Given the description of an element on the screen output the (x, y) to click on. 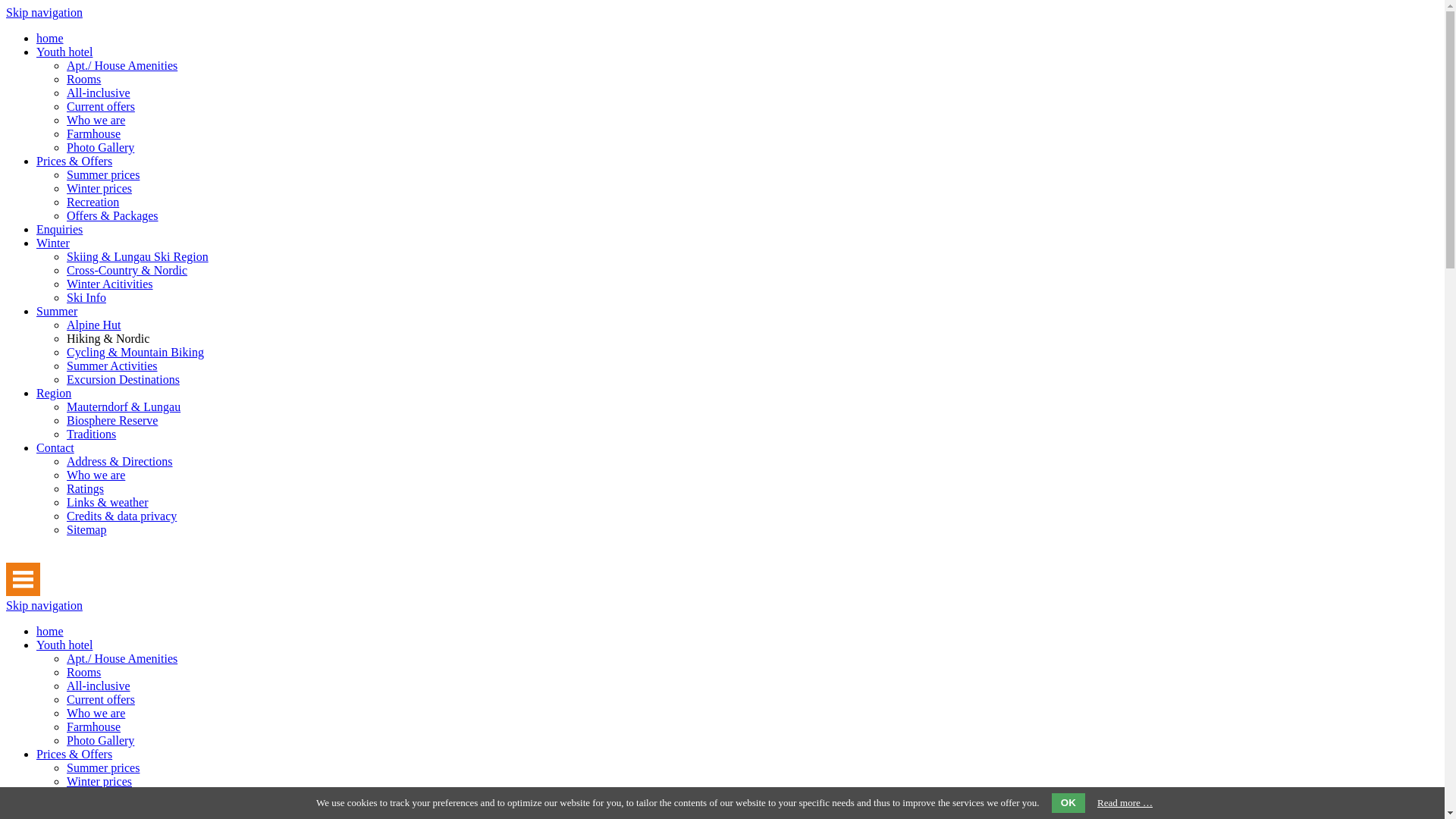
Skiing & Lungau Ski Region Element type: text (137, 256)
Summer prices Element type: text (102, 767)
Excursion Destinations Element type: text (122, 379)
Prices & Offers Element type: text (74, 160)
Who we are Element type: text (95, 712)
Recreation Element type: text (92, 794)
Rooms Element type: text (83, 671)
Rooms Element type: text (83, 78)
Region Element type: text (53, 392)
Who we are Element type: text (95, 119)
Summer Element type: text (56, 310)
Alpine Hut Element type: text (93, 324)
Current offers Element type: text (100, 106)
Offers & Packages Element type: text (112, 808)
Apt./ House Amenities Element type: text (121, 65)
Address & Directions Element type: text (119, 461)
Farmhouse Element type: text (93, 726)
Cycling & Mountain Biking Element type: text (134, 351)
Cross-Country & Nordic Element type: text (126, 269)
Prices & Offers Element type: text (74, 753)
Winter prices Element type: text (98, 781)
Current offers Element type: text (100, 699)
Summer Activities Element type: text (111, 365)
Winter prices Element type: text (98, 188)
Traditions Element type: text (91, 433)
Youth hotel Element type: text (64, 51)
home Element type: text (49, 630)
Mauterndorf & Lungau Element type: text (123, 406)
Who we are Element type: text (95, 474)
Skip navigation Element type: text (44, 12)
home Element type: text (49, 37)
Photo Gallery Element type: text (100, 740)
Winter Element type: text (52, 242)
Skip navigation Element type: text (44, 605)
All-inclusive Element type: text (98, 92)
Photo Gallery Element type: text (100, 147)
Enquiries Element type: text (59, 228)
Youth hotel Element type: text (64, 644)
Ski Info Element type: text (86, 297)
Sitemap Element type: text (86, 529)
Apt./ House Amenities Element type: text (121, 658)
Biosphere Reserve Element type: text (111, 420)
Offers & Packages Element type: text (112, 215)
  Element type: text (7, 555)
Summer prices Element type: text (102, 174)
All-inclusive Element type: text (98, 685)
Credits & data privacy Element type: text (121, 515)
Links & weather Element type: text (107, 501)
Contact Element type: text (55, 447)
Recreation Element type: text (92, 201)
Farmhouse Element type: text (93, 133)
OK Element type: text (1068, 802)
Winter Acitivities Element type: text (109, 283)
Ratings Element type: text (84, 488)
